Given the description of an element on the screen output the (x, y) to click on. 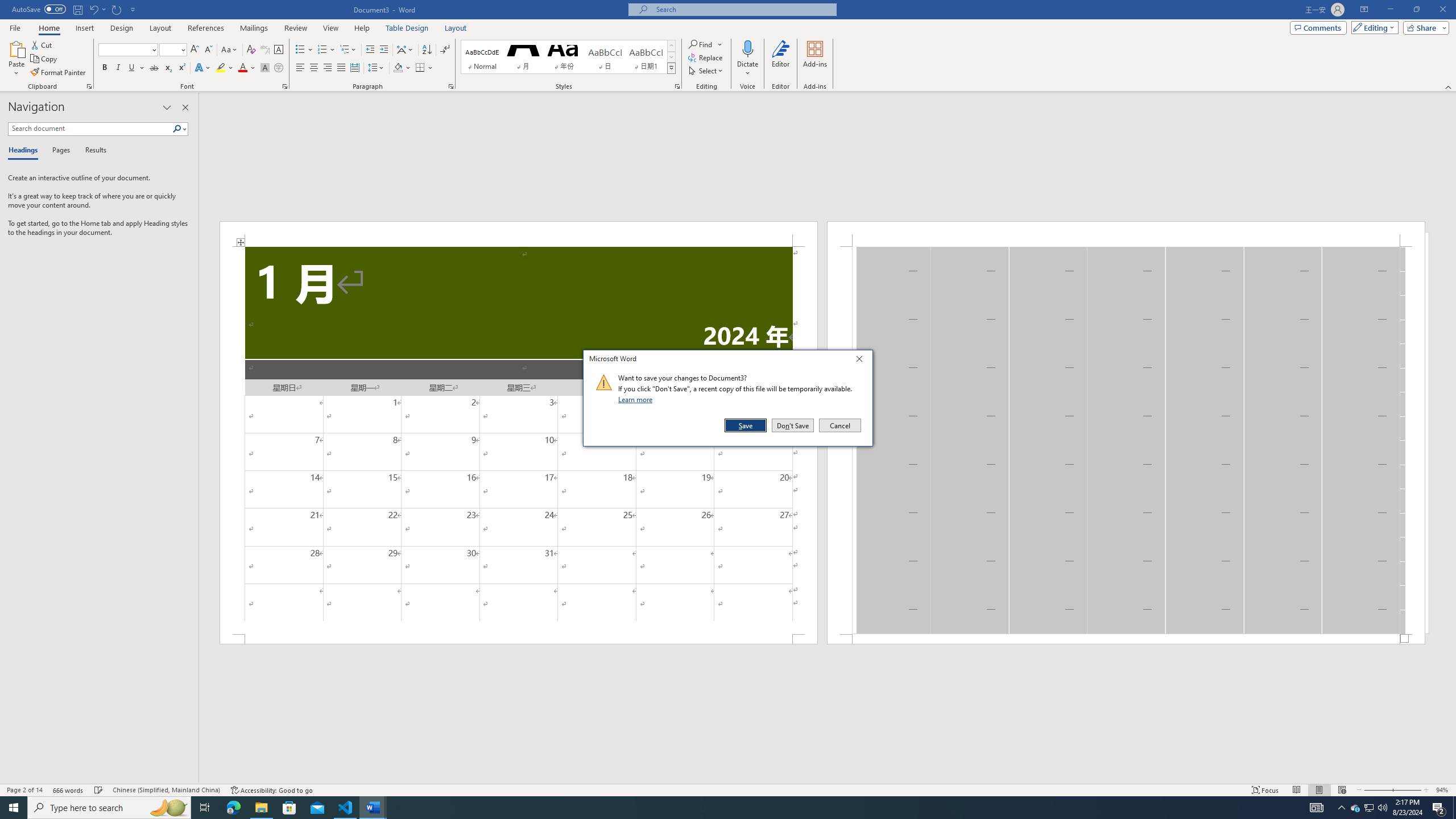
Undo Distribute Para (92, 9)
Headings (25, 150)
Distributed (354, 67)
Text Effects and Typography (202, 67)
Notification Chevron (1341, 807)
Clear Formatting (250, 49)
Replace... (705, 56)
Action Center, 2 new notifications (1439, 807)
Page Number Page 2 of 14 (24, 790)
Class: NetUIScrollBar (827, 778)
